Given the description of an element on the screen output the (x, y) to click on. 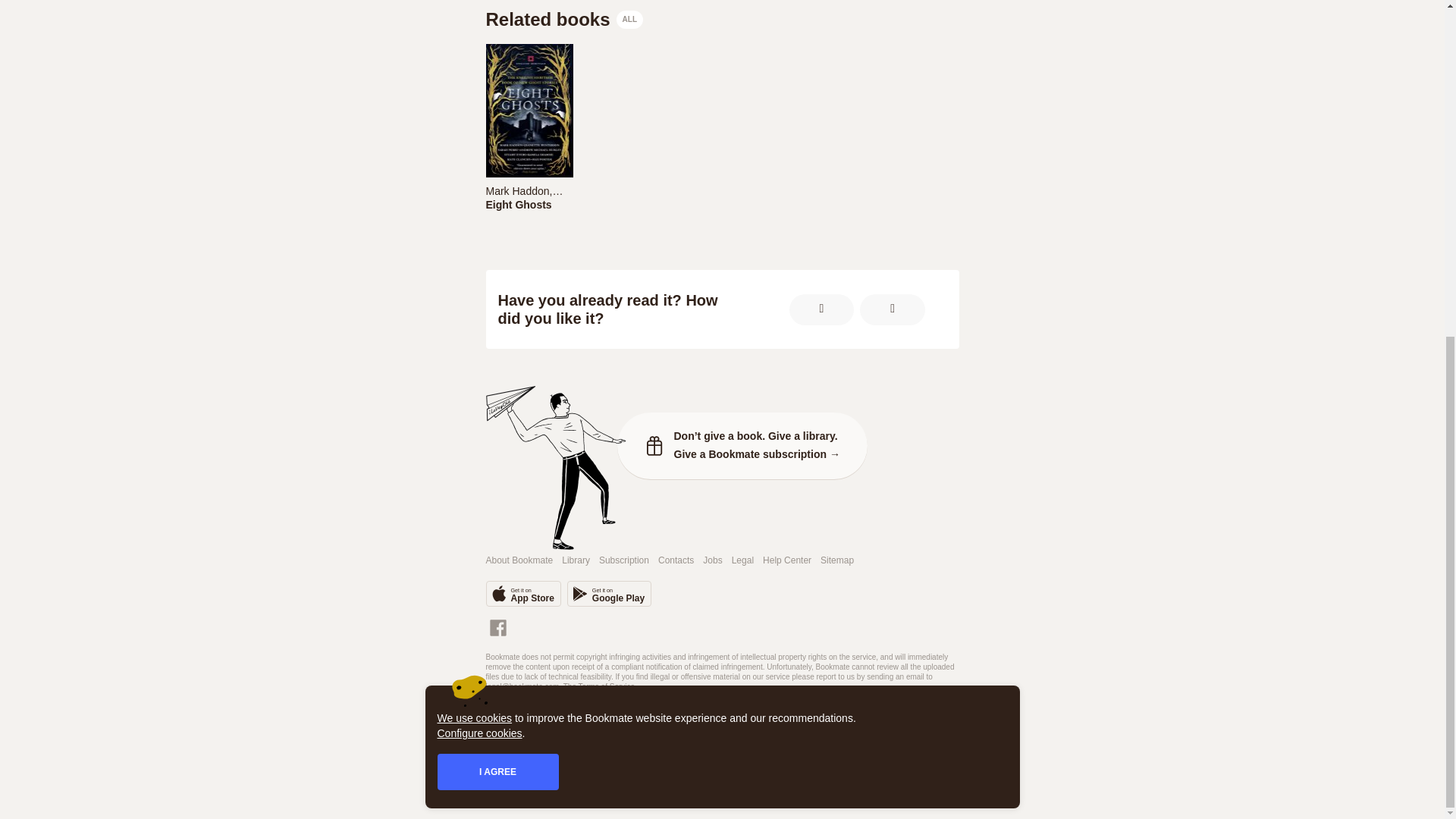
We use cookies (563, 19)
Mark Haddon, Jeanette Winterson, Sarah Perry, Max Porter (474, 151)
Subscription (528, 190)
Jobs (623, 560)
The Terms of Service (712, 560)
Help Center (598, 686)
About Bookmate (721, 132)
Jeanette Winterson (786, 560)
Library (522, 593)
Contacts (518, 560)
Sitemap (603, 191)
Eight Ghosts (575, 560)
